Given the description of an element on the screen output the (x, y) to click on. 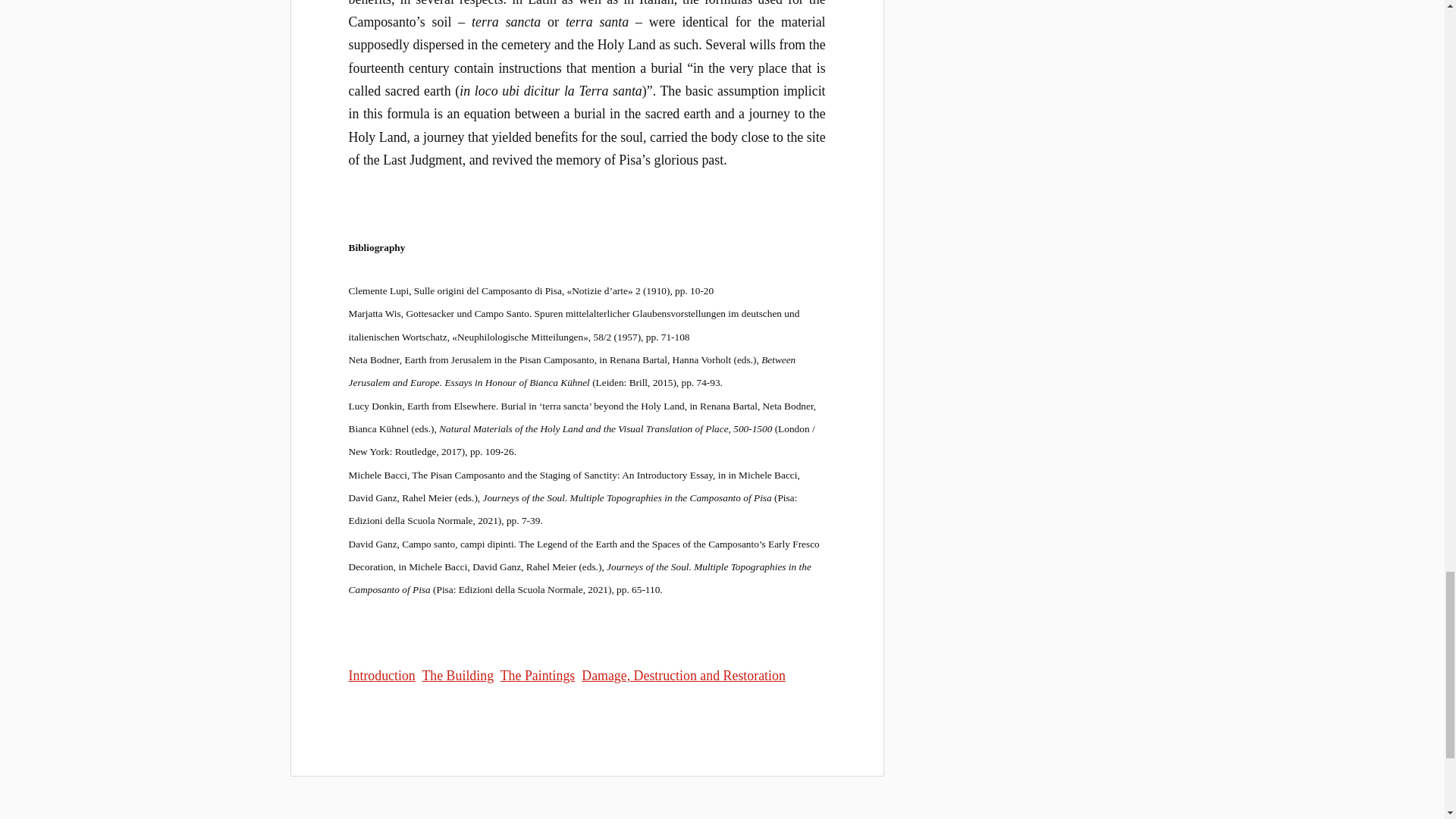
The Building (457, 675)
Damage, Destruction and Restoration (683, 675)
Introduction (381, 675)
The Paintings (537, 675)
